Given the description of an element on the screen output the (x, y) to click on. 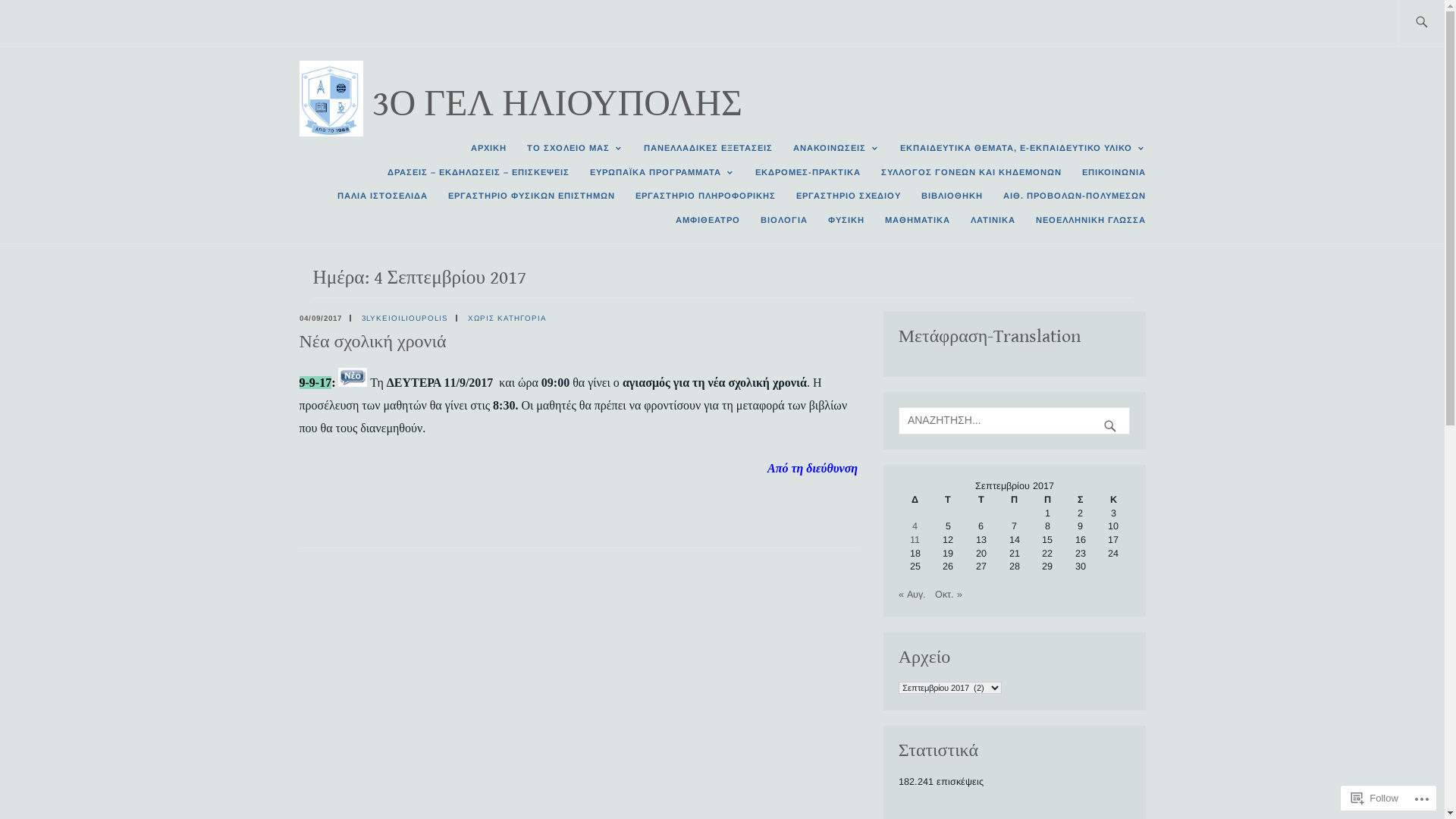
3LYKEIOILIOUPOLIS Element type: text (403, 317)
4 Element type: text (914, 525)
11 Element type: text (914, 539)
04/09/2017 Element type: text (319, 317)
Follow Element type: text (1374, 797)
